Given the description of an element on the screen output the (x, y) to click on. 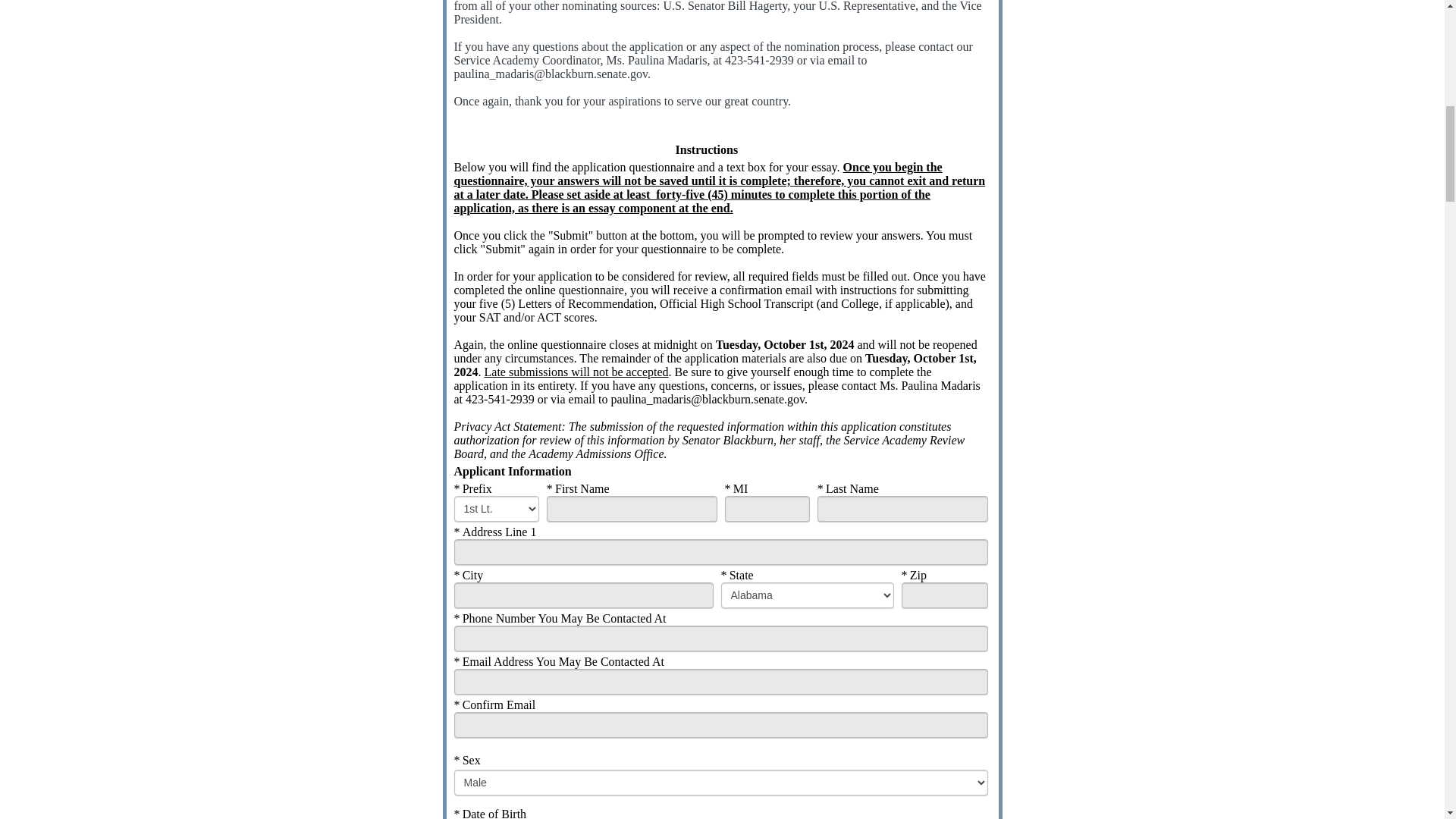
Enter required primary contact email confirm (719, 724)
Enter required Sex (719, 782)
Enter required primary contact addr 1 (719, 551)
Enter required primary contact state (806, 595)
Enter required primary contact email (719, 681)
Enter required primary contact last name (902, 508)
Enter required primary contact prefix (495, 508)
Enter required primary contact hphone (719, 638)
Enter required primary contact first name (632, 508)
Enter required primary contact middle name (767, 508)
Enter required primary contact city (582, 595)
Enter required primary contact zip (944, 595)
